Given the description of an element on the screen output the (x, y) to click on. 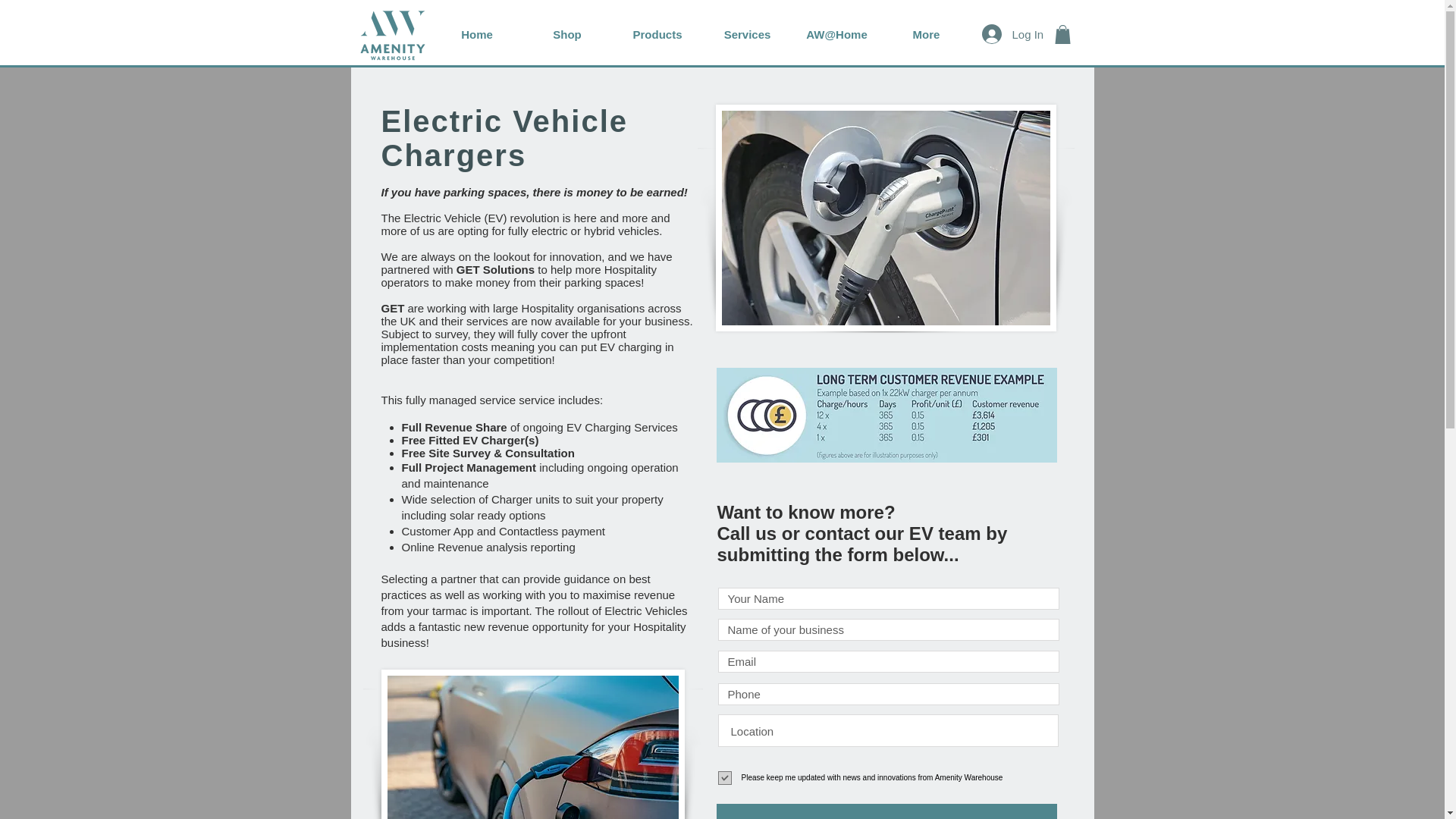
Home (477, 34)
CONTACT ME (886, 811)
Shop (566, 34)
Log In (1008, 33)
